Given the description of an element on the screen output the (x, y) to click on. 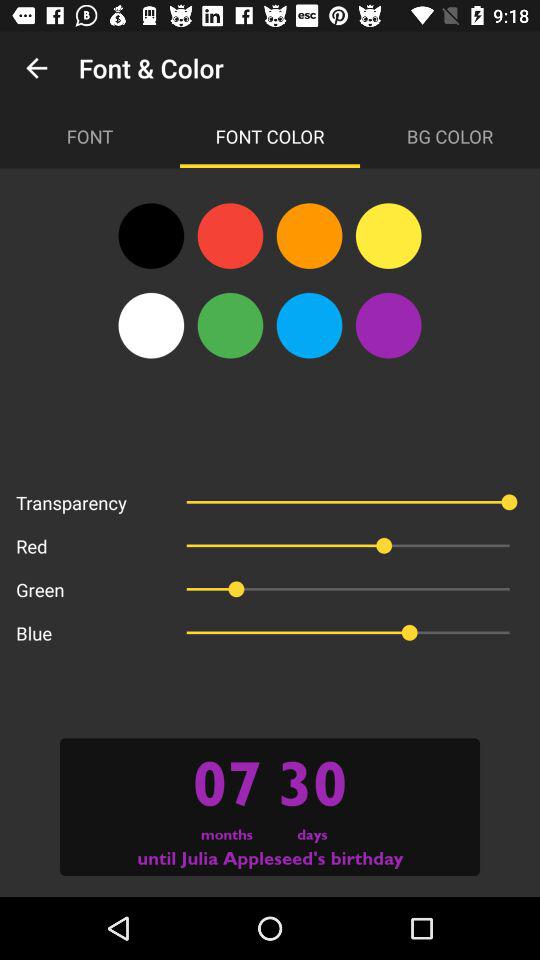
flip to the bg color (450, 136)
